Given the description of an element on the screen output the (x, y) to click on. 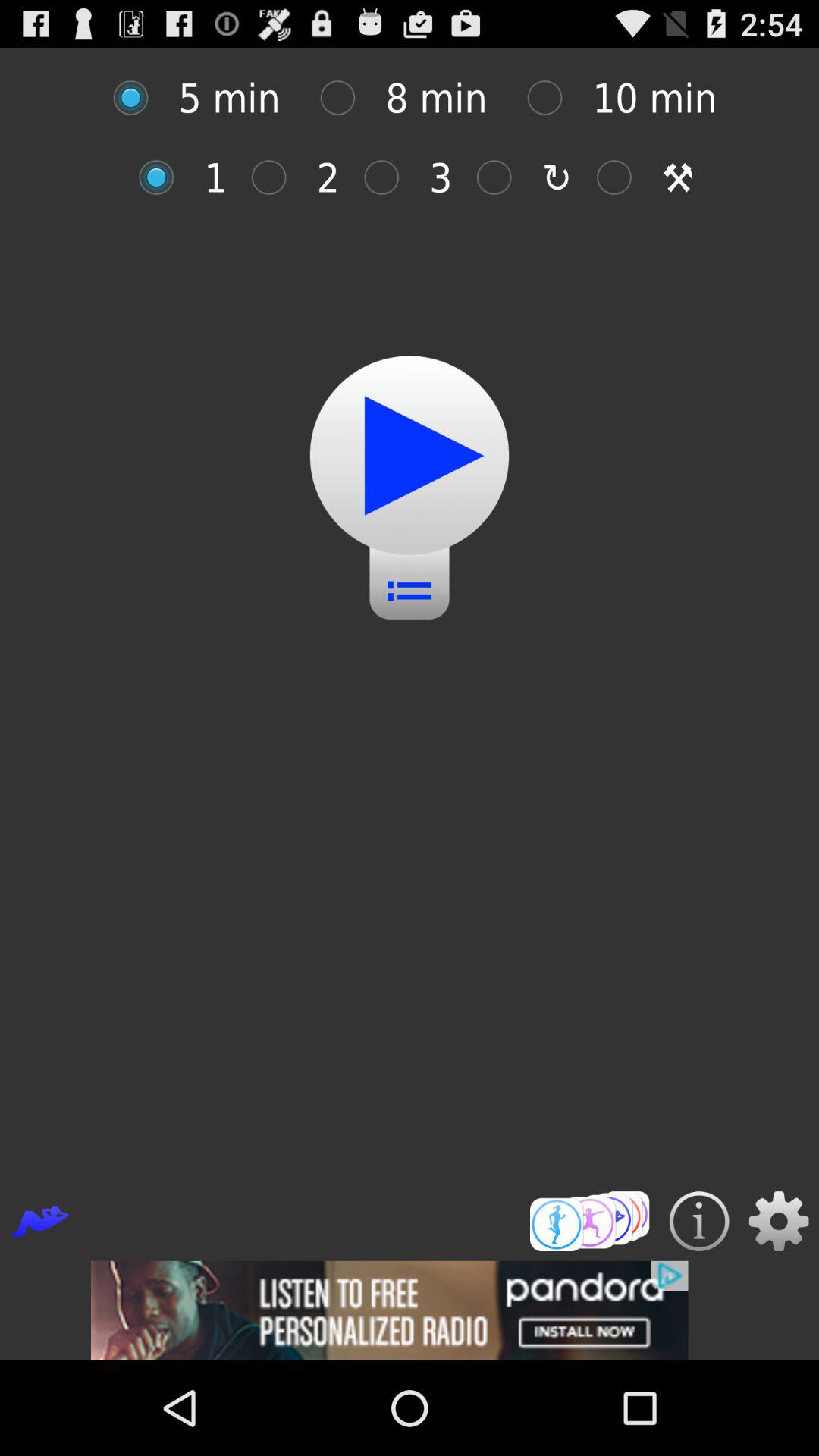
click the box (345, 97)
